Given the description of an element on the screen output the (x, y) to click on. 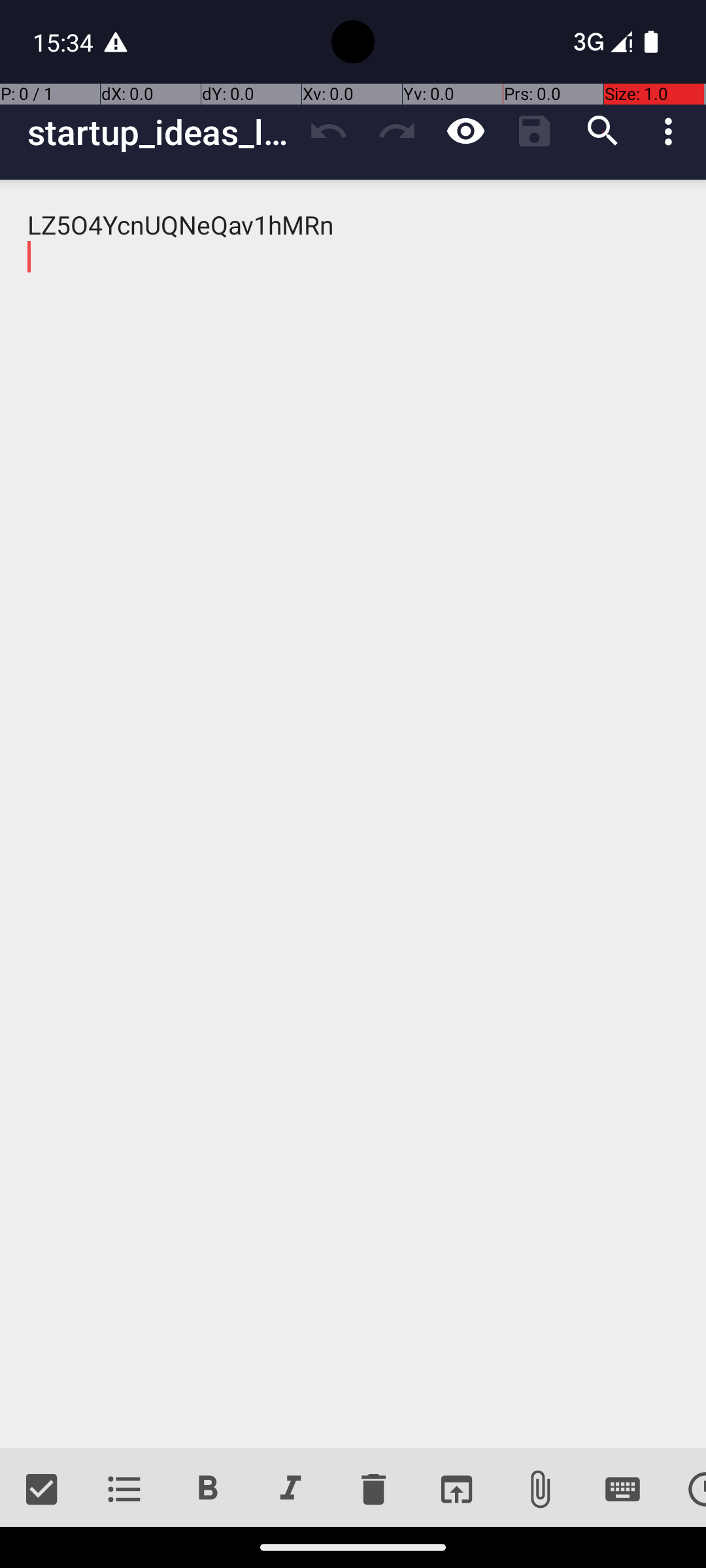
startup_ideas_launch_edited Element type: android.widget.TextView (160, 131)
LZ5O4YcnUQNeQav1hMRn
 Element type: android.widget.EditText (353, 813)
Bold Element type: android.widget.ImageView (207, 1488)
Italic Element type: android.widget.ImageView (290, 1488)
